Given the description of an element on the screen output the (x, y) to click on. 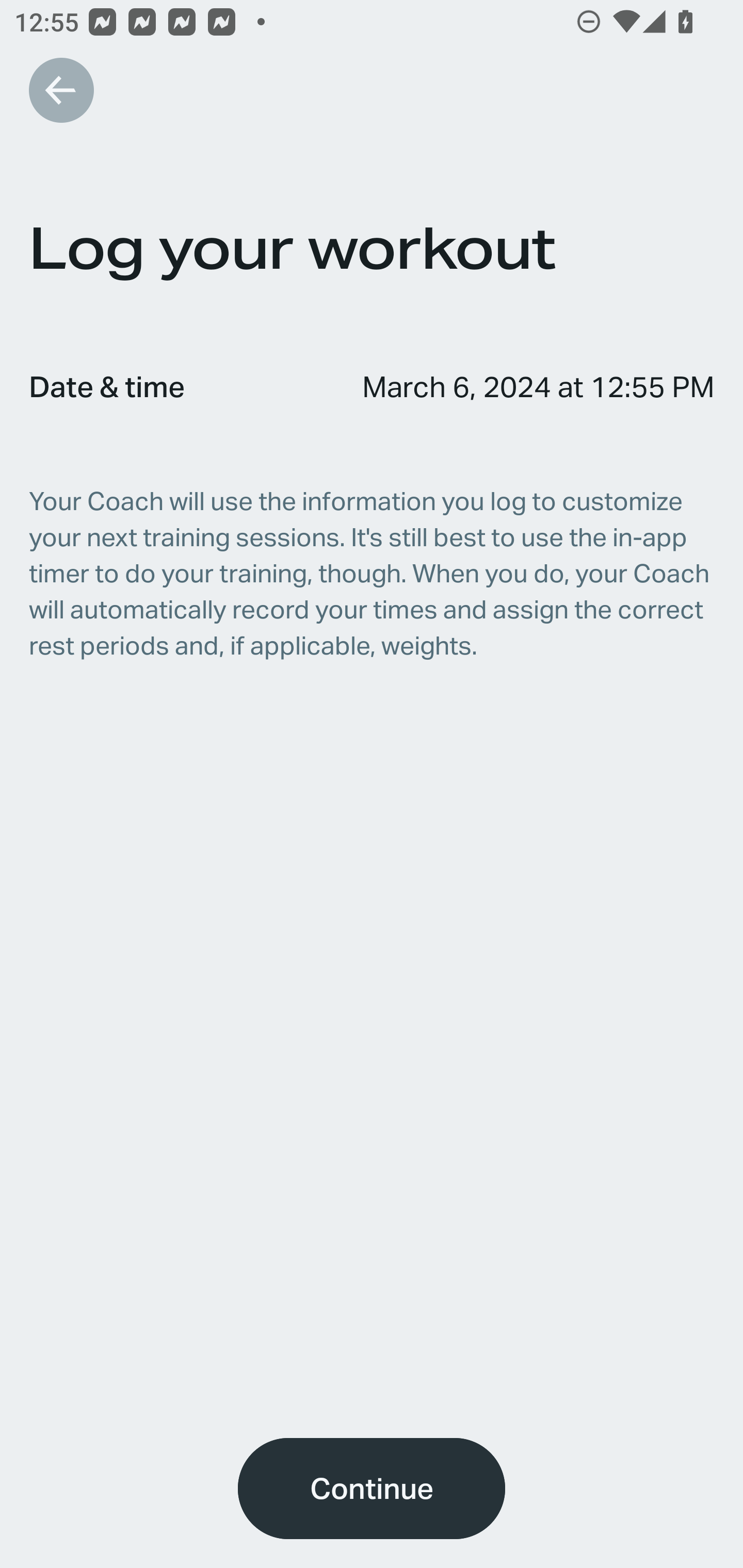
Go back (60, 90)
Date & time March 6, 2024 at 12:55 PM (371, 385)
Continue (371, 1488)
